Given the description of an element on the screen output the (x, y) to click on. 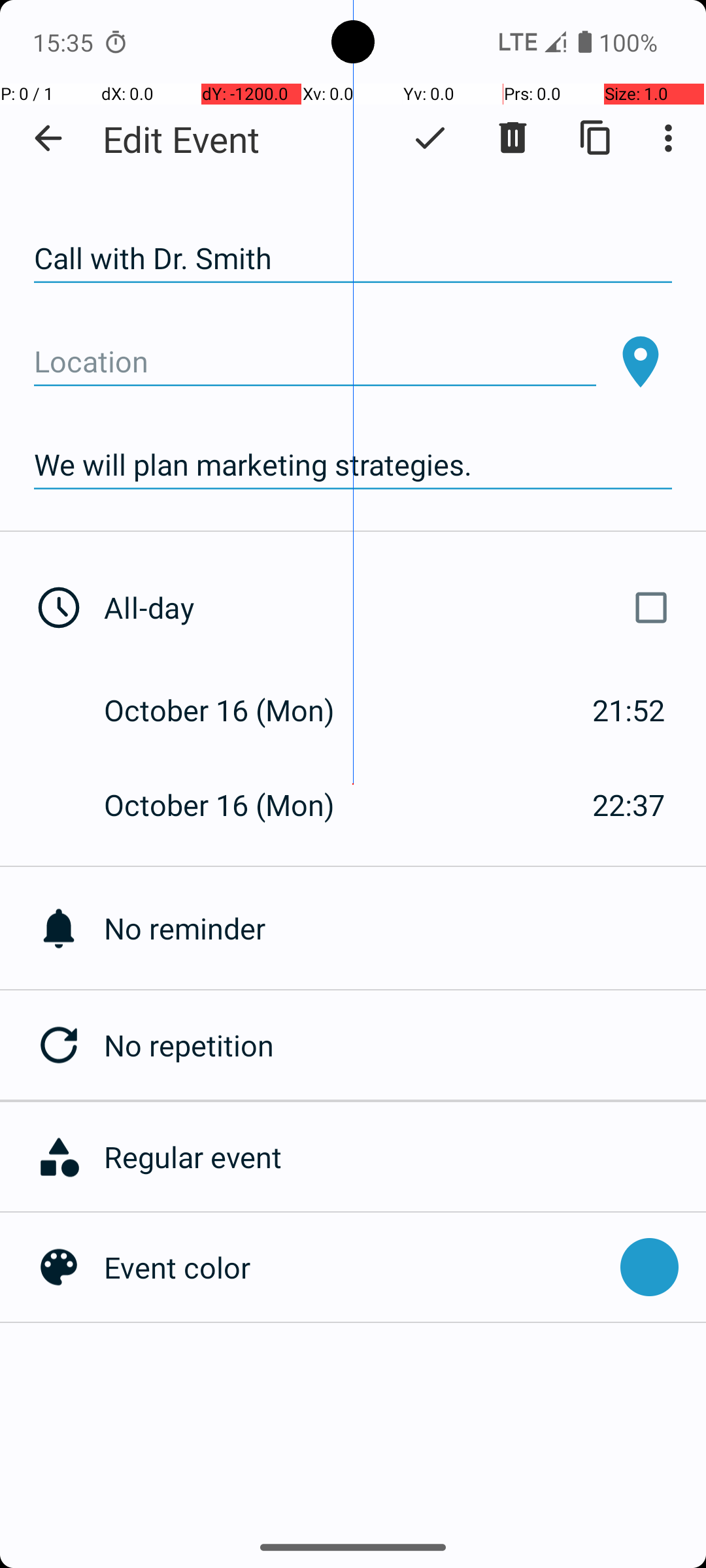
We will plan marketing strategies. Element type: android.widget.EditText (352, 465)
21:52 Element type: android.widget.TextView (628, 709)
22:37 Element type: android.widget.TextView (628, 804)
